Given the description of an element on the screen output the (x, y) to click on. 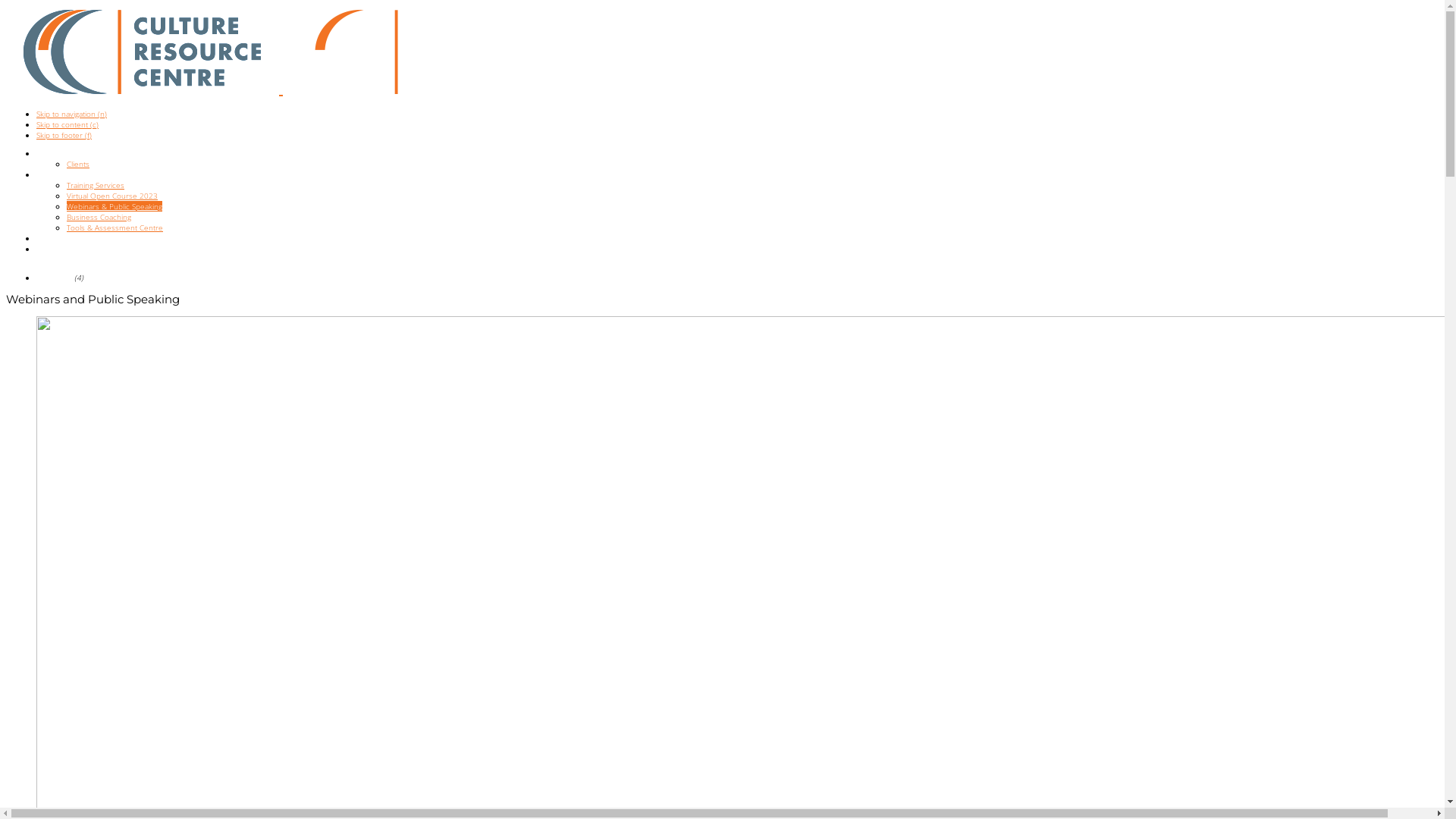
Skip to navigation (n) Element type: text (71, 113)
Culture Resource Centre Element type: hover (142, 51)
Blog Culture@Work Element type: text (69, 248)
About Us Element type: text (52, 152)
Business Coaching Element type: text (98, 216)
Virtual Open Course 2023 Element type: text (111, 195)
Skip to content (c) Element type: text (67, 124)
Recent Projects Element type: text (63, 237)
Culture Resource Centre Element type: hover (418, 51)
contact us Element type: text (55, 277)
Skip to footer (f) Element type: text (63, 134)
Tools & Assessment Centre Element type: text (114, 227)
Clients Element type: text (77, 163)
Training Services Element type: text (95, 184)
Training & Coaching Element type: text (69, 174)
Webinars & Public Speaking Element type: text (114, 205)
